Given the description of an element on the screen output the (x, y) to click on. 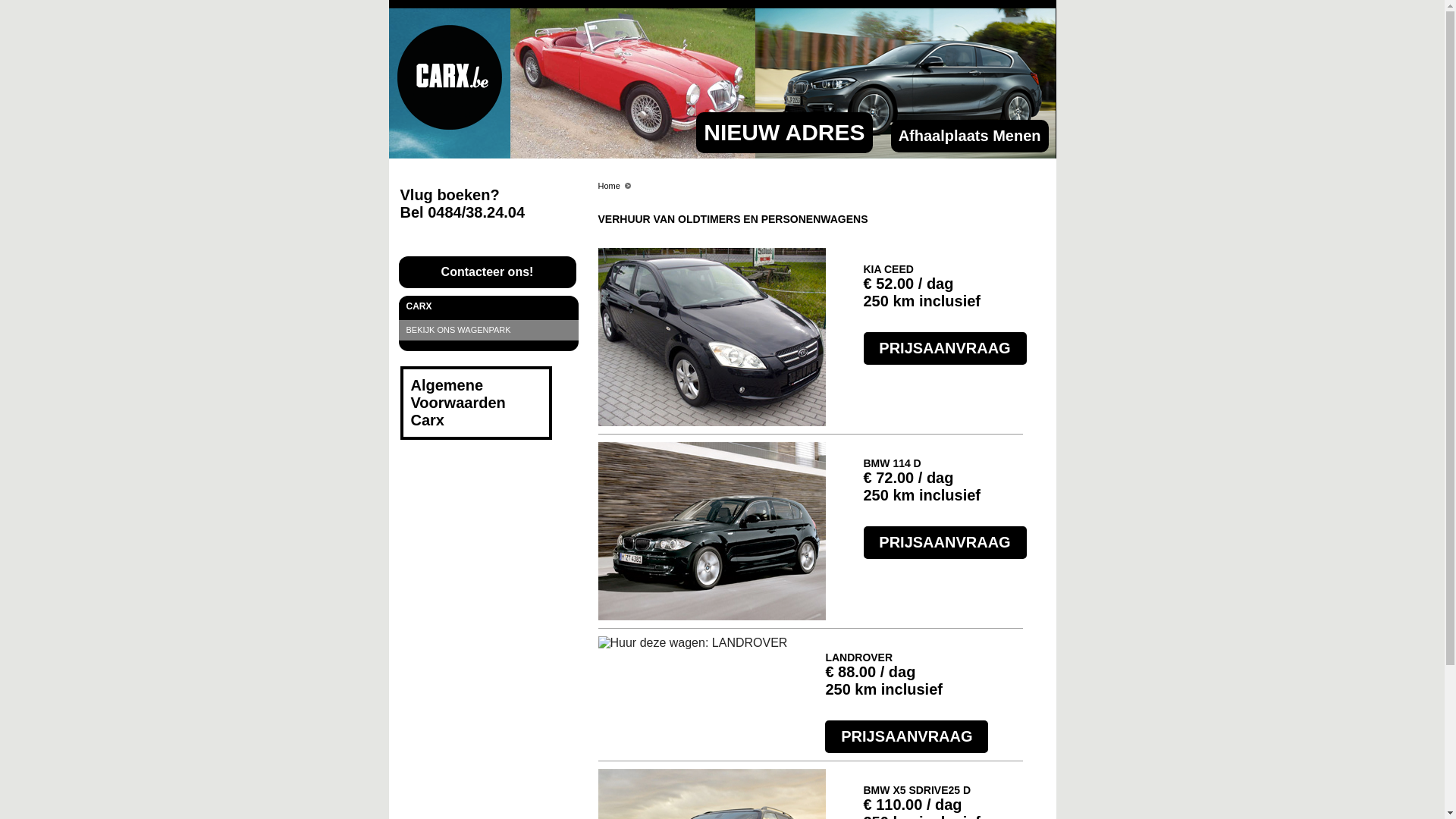
Huur deze wagen: KIA CEED Element type: hover (711, 336)
BEKIJK ONS WAGENPARK Element type: text (488, 330)
Home Element type: text (608, 185)
PRIJSAANVRAAG Element type: text (944, 542)
Huur deze wagen: LANDROVER Element type: hover (692, 642)
PRIJSAANVRAAG Element type: text (906, 736)
Huur deze wagen: BMW 114 D Element type: hover (711, 531)
PRIJSAANVRAAG Element type: text (944, 348)
Algemene Voorwaarden Carx Element type: text (458, 402)
